Given the description of an element on the screen output the (x, y) to click on. 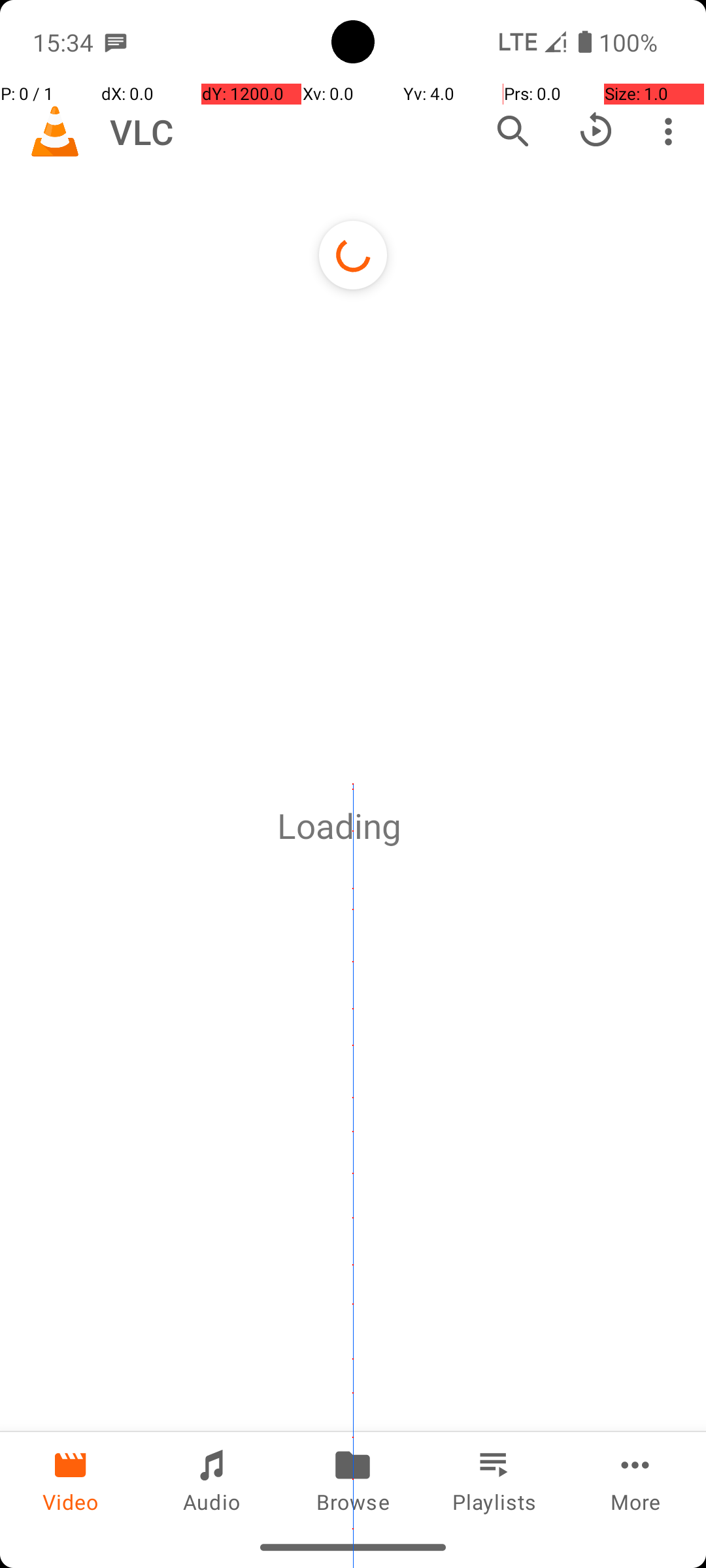
Resume playback Element type: android.widget.TextView (595, 131)
